Given the description of an element on the screen output the (x, y) to click on. 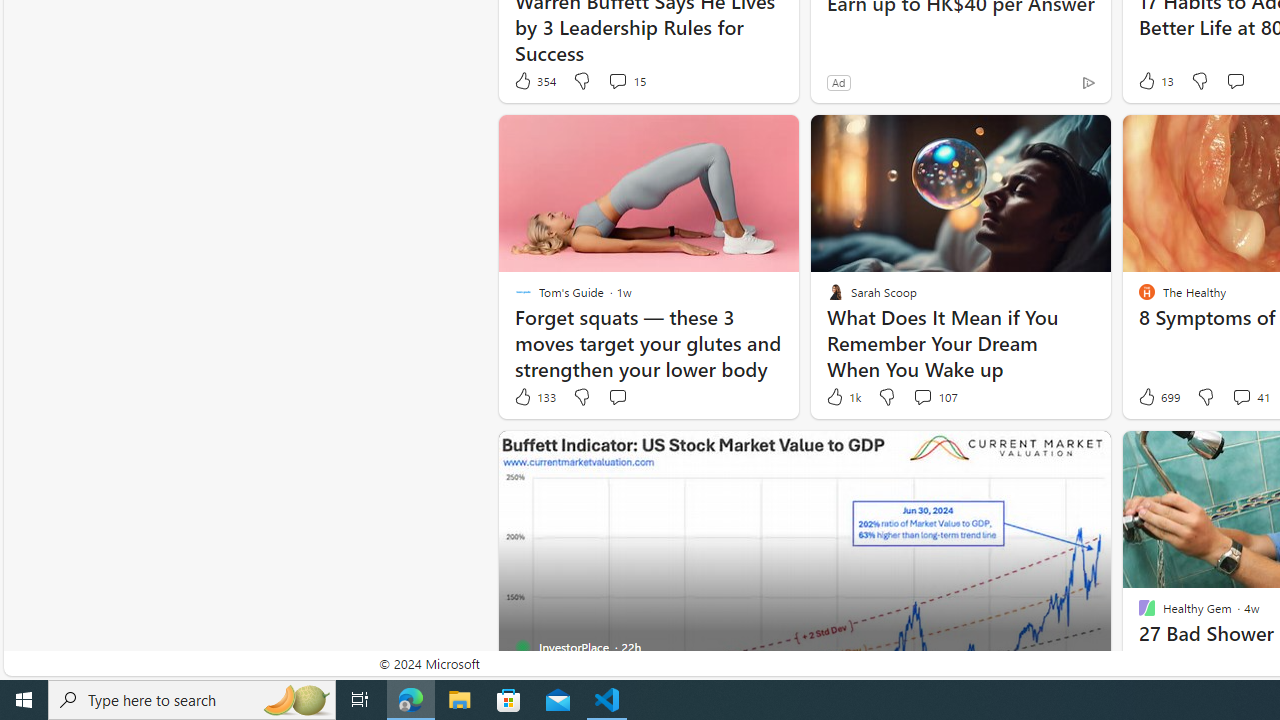
View comments 41 Comment (1241, 396)
View comments 15 Comment (617, 80)
View comments 41 Comment (1249, 397)
